Given the description of an element on the screen output the (x, y) to click on. 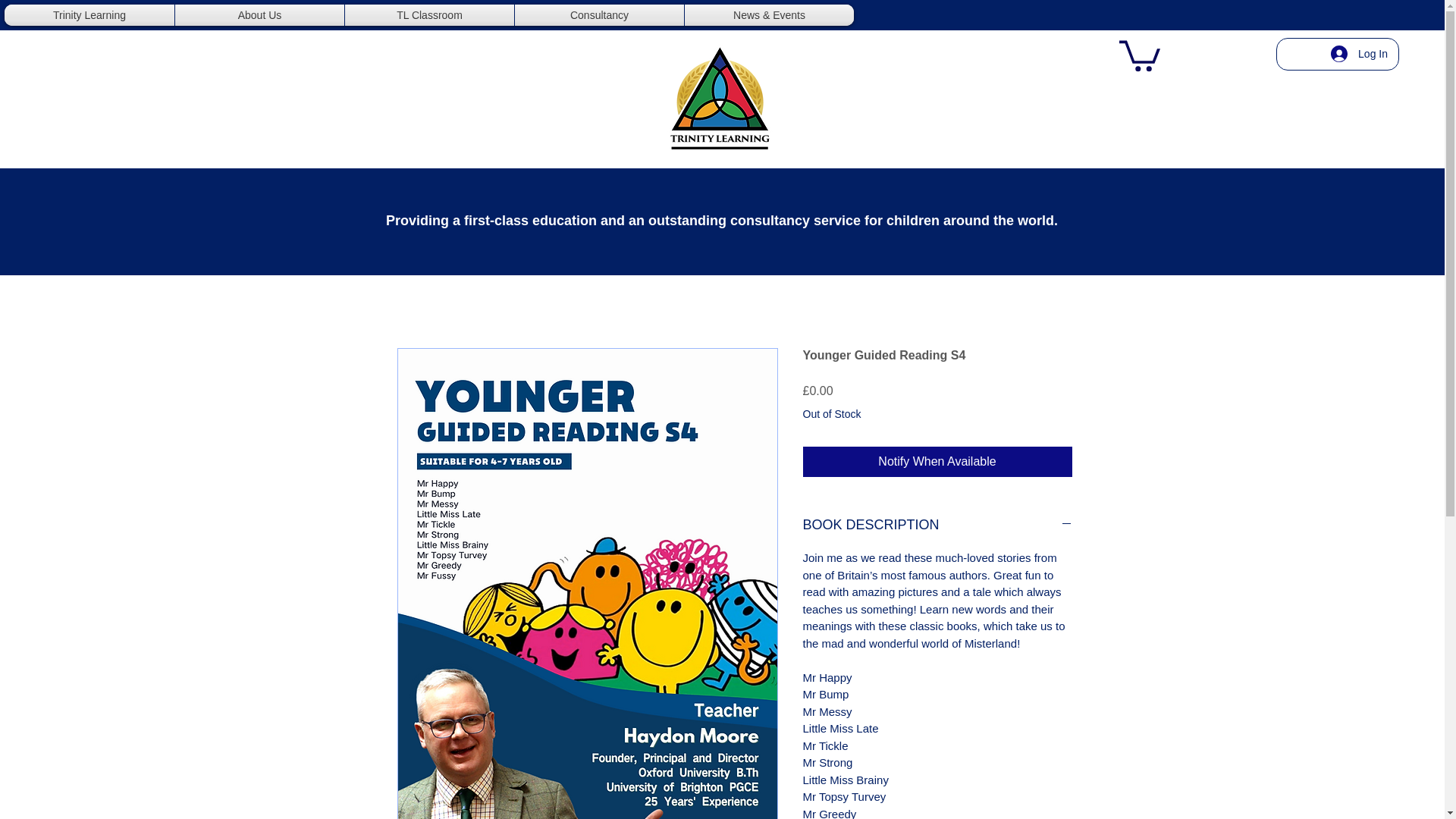
Trinity Learning (89, 14)
Log In (1358, 53)
Notify When Available (936, 461)
BOOK DESCRIPTION (936, 525)
TL Classroom (429, 14)
About Us (258, 14)
Consultancy (599, 14)
